Given the description of an element on the screen output the (x, y) to click on. 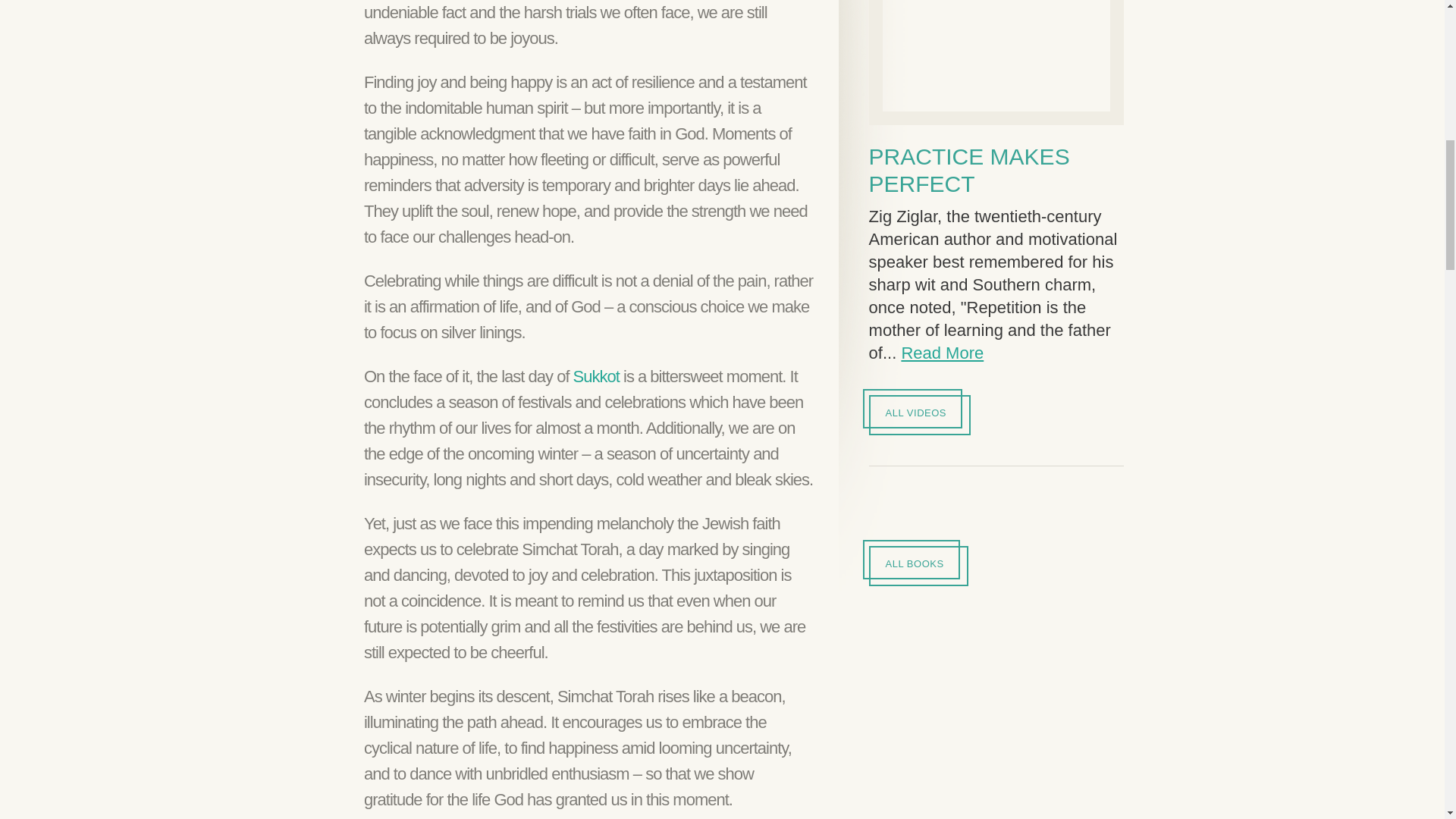
PRACTICE MAKES PERFECT (969, 170)
Sukkot (596, 375)
Read More (942, 352)
